Given the description of an element on the screen output the (x, y) to click on. 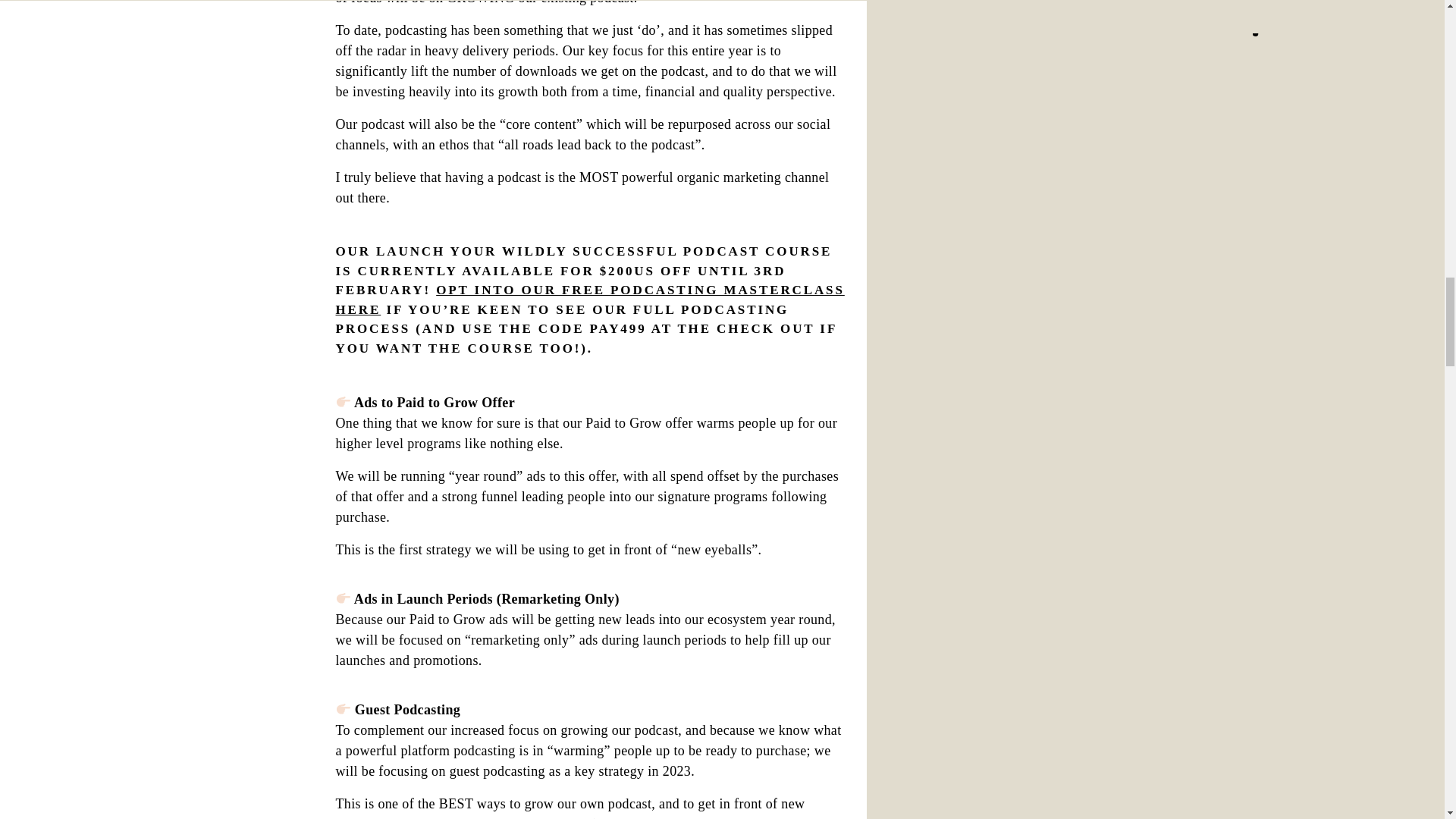
OPT INTO OUR FREE PODCASTING MASTERCLASS HERE (589, 299)
